Given the description of an element on the screen output the (x, y) to click on. 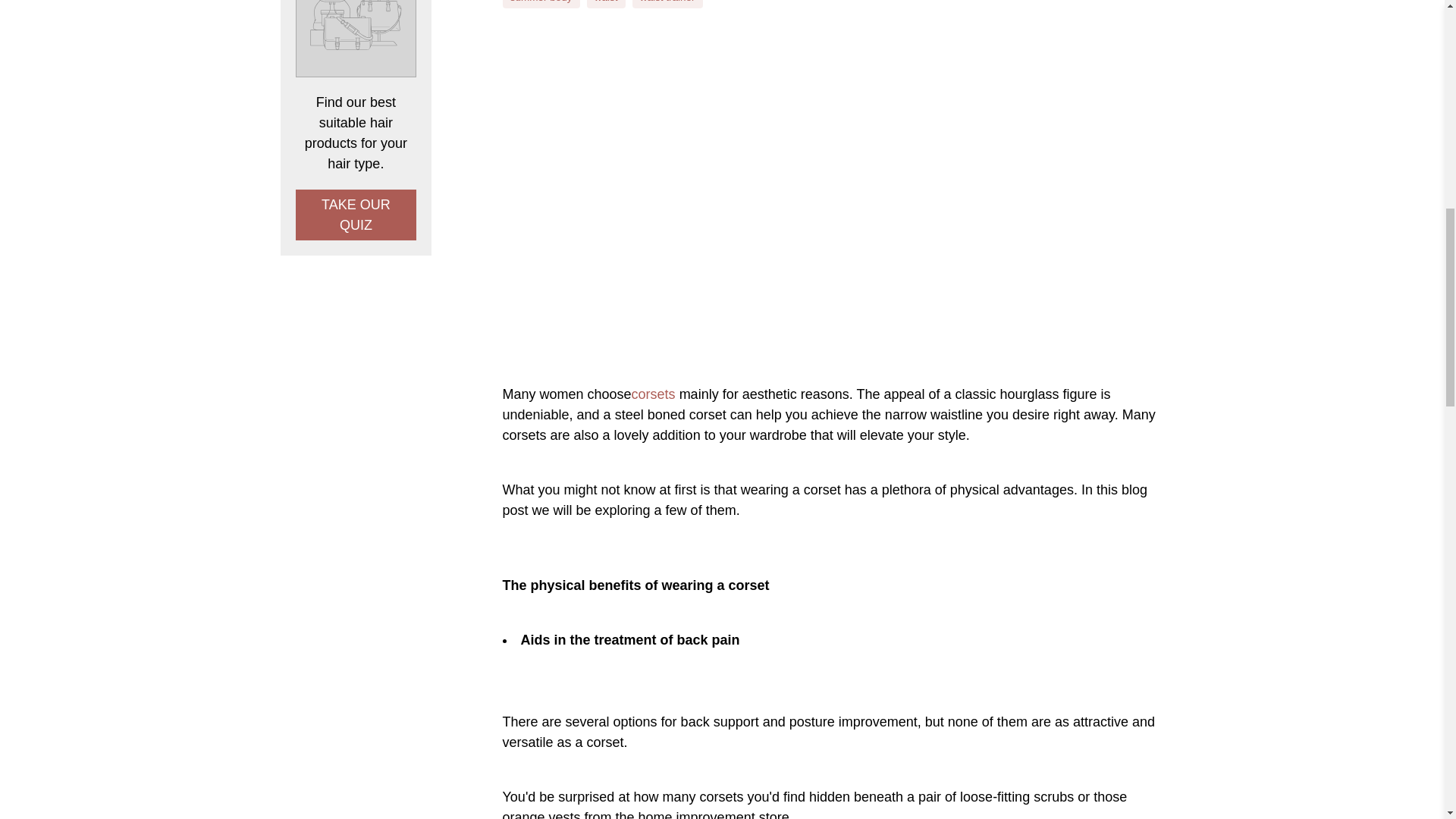
LOOLA BLOG tagged waist trainer (667, 2)
summer body (541, 2)
LOOLA BLOG tagged summer body (541, 2)
TAKE OUR QUIZ (355, 214)
waist (605, 2)
LOOLA BLOG tagged waist (605, 2)
